Given the description of an element on the screen output the (x, y) to click on. 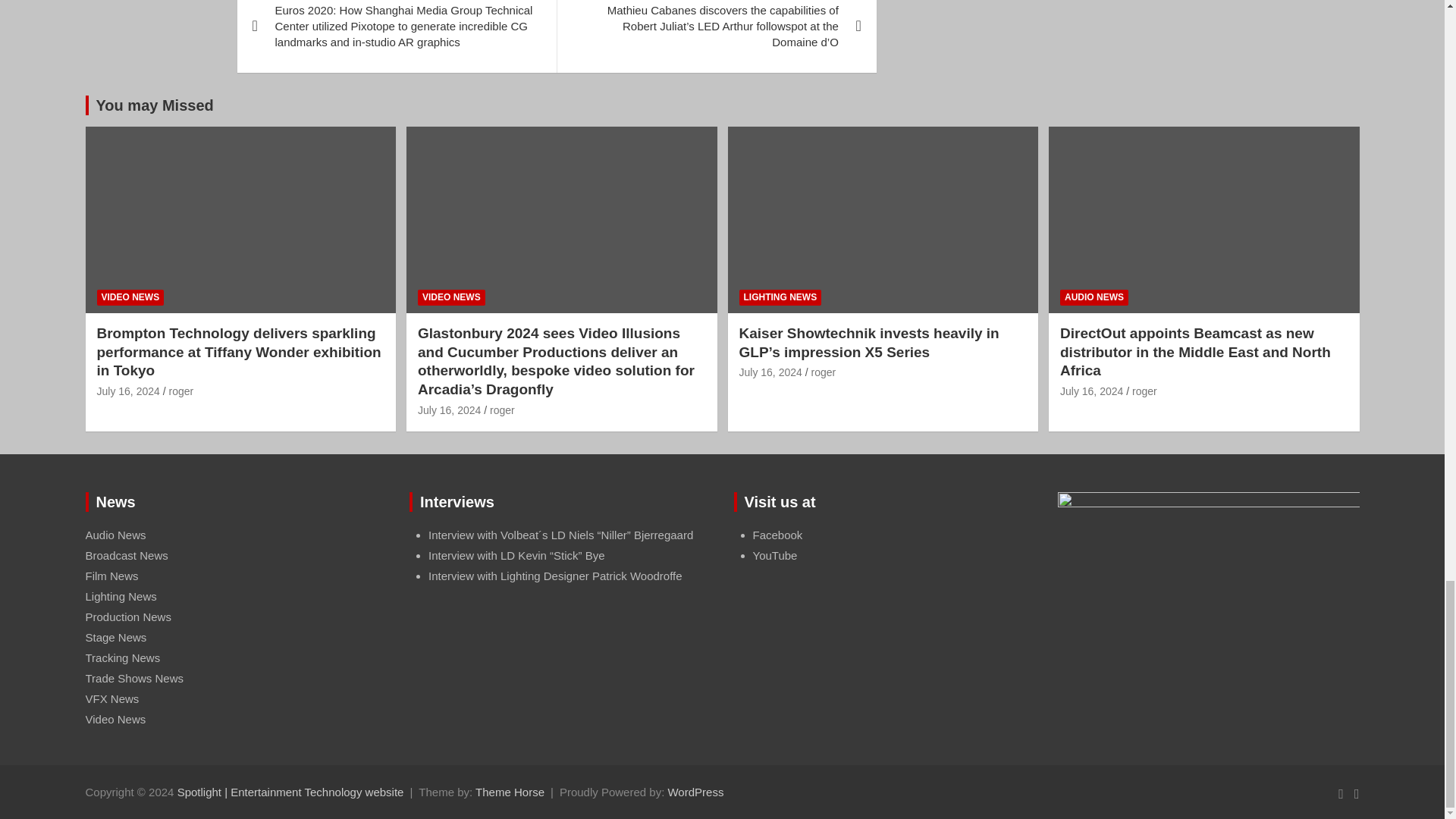
Theme Horse (510, 791)
WordPress (694, 791)
